Given the description of an element on the screen output the (x, y) to click on. 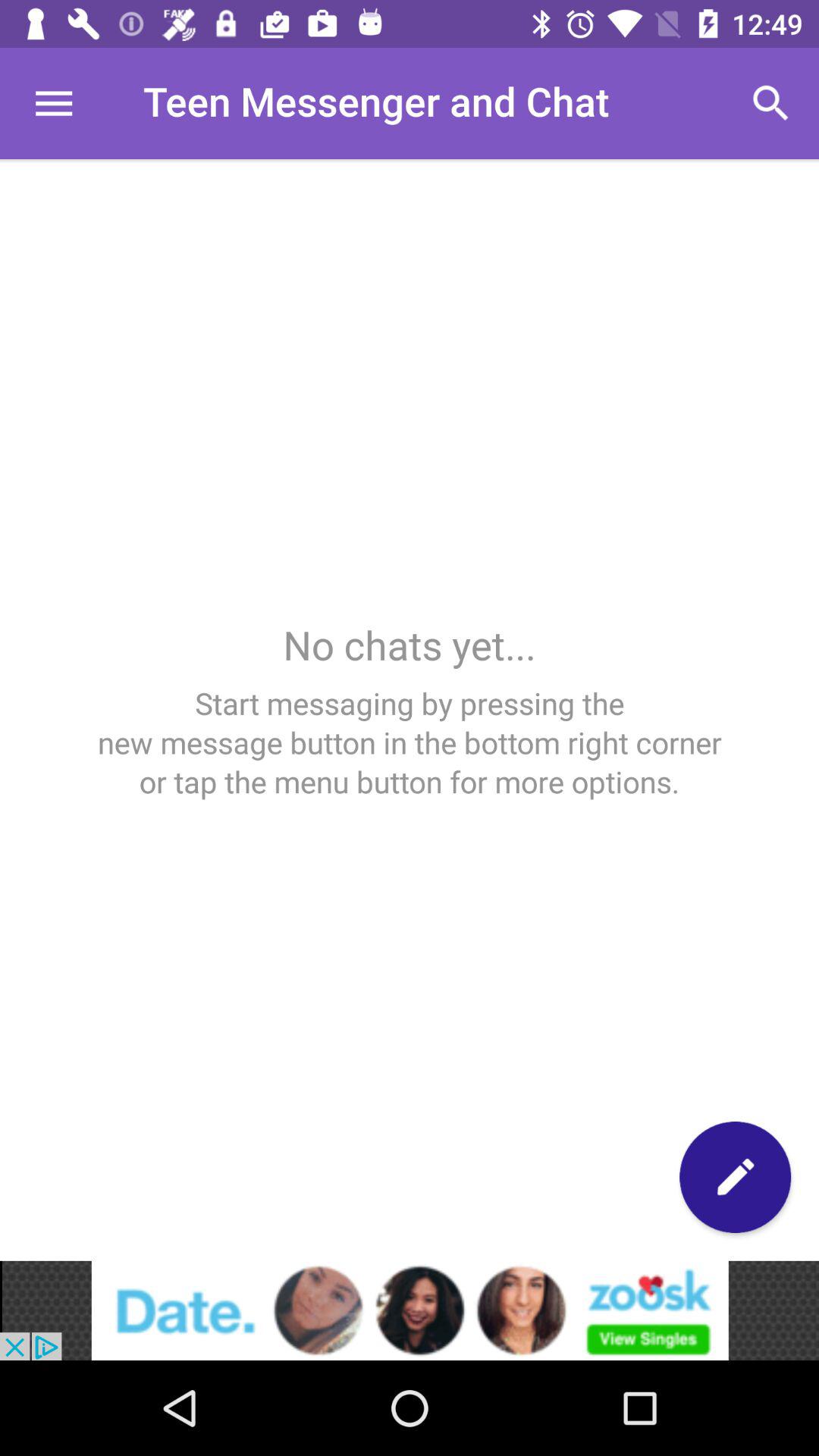
pen button (735, 1177)
